Given the description of an element on the screen output the (x, y) to click on. 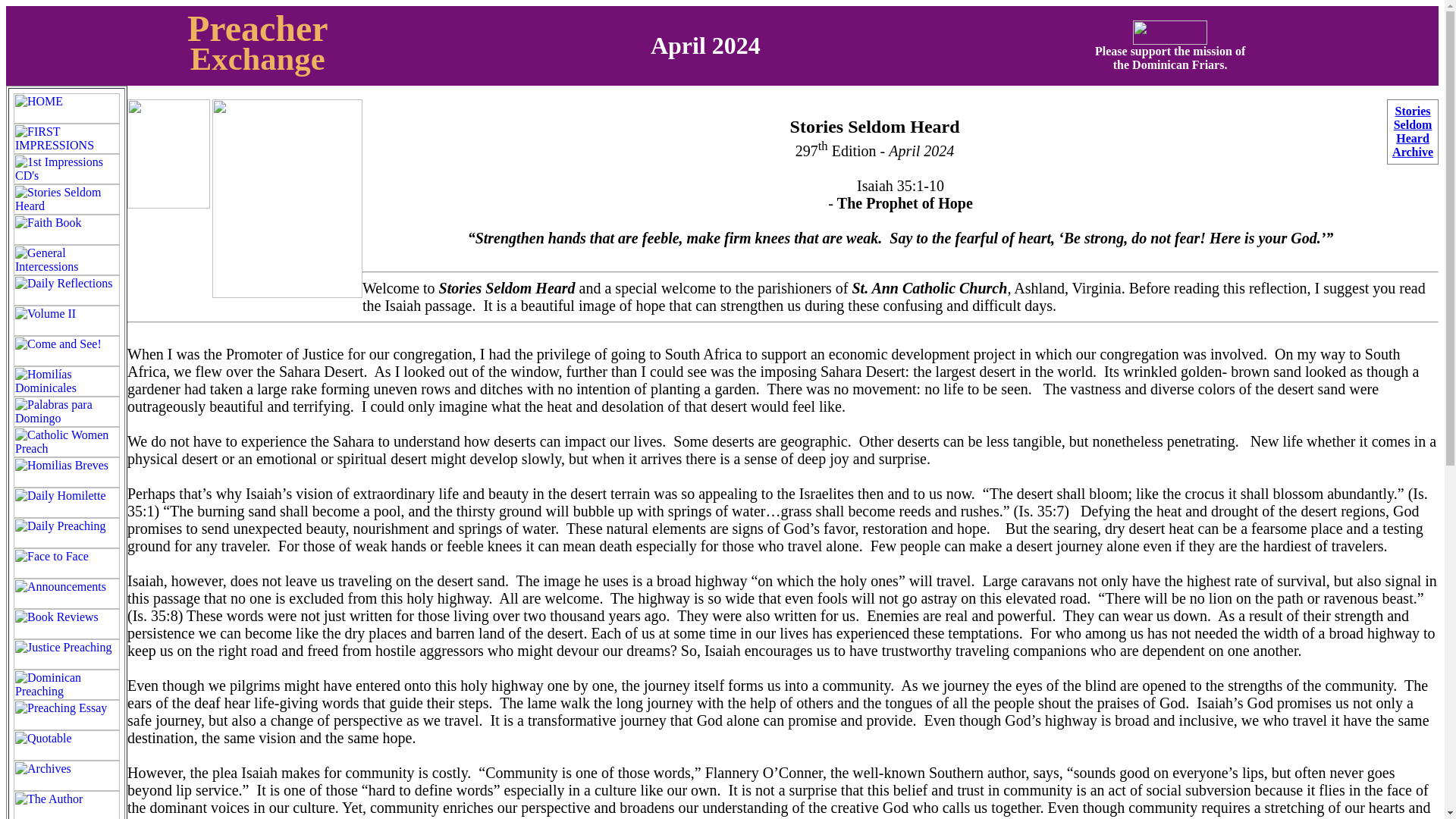
Archive (1411, 151)
Stories (1411, 110)
Seldom (1412, 124)
Preacher (1169, 57)
Heard (258, 28)
Exchange (1412, 137)
